Given the description of an element on the screen output the (x, y) to click on. 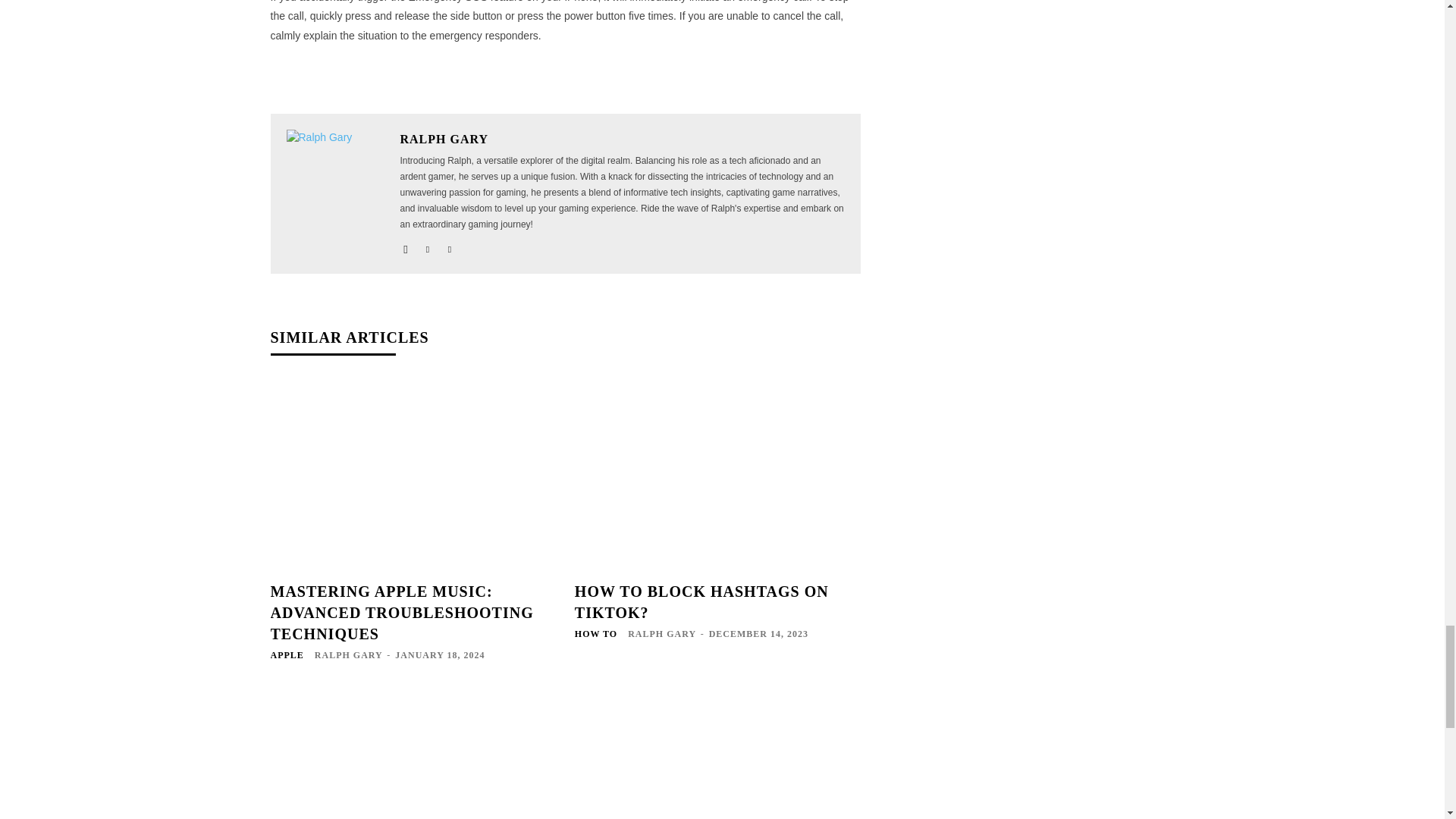
Twitter (449, 246)
Mastering Apple Music: Advanced Troubleshooting Techniques (412, 475)
Pinterest (427, 246)
Facebook (406, 246)
